Given the description of an element on the screen output the (x, y) to click on. 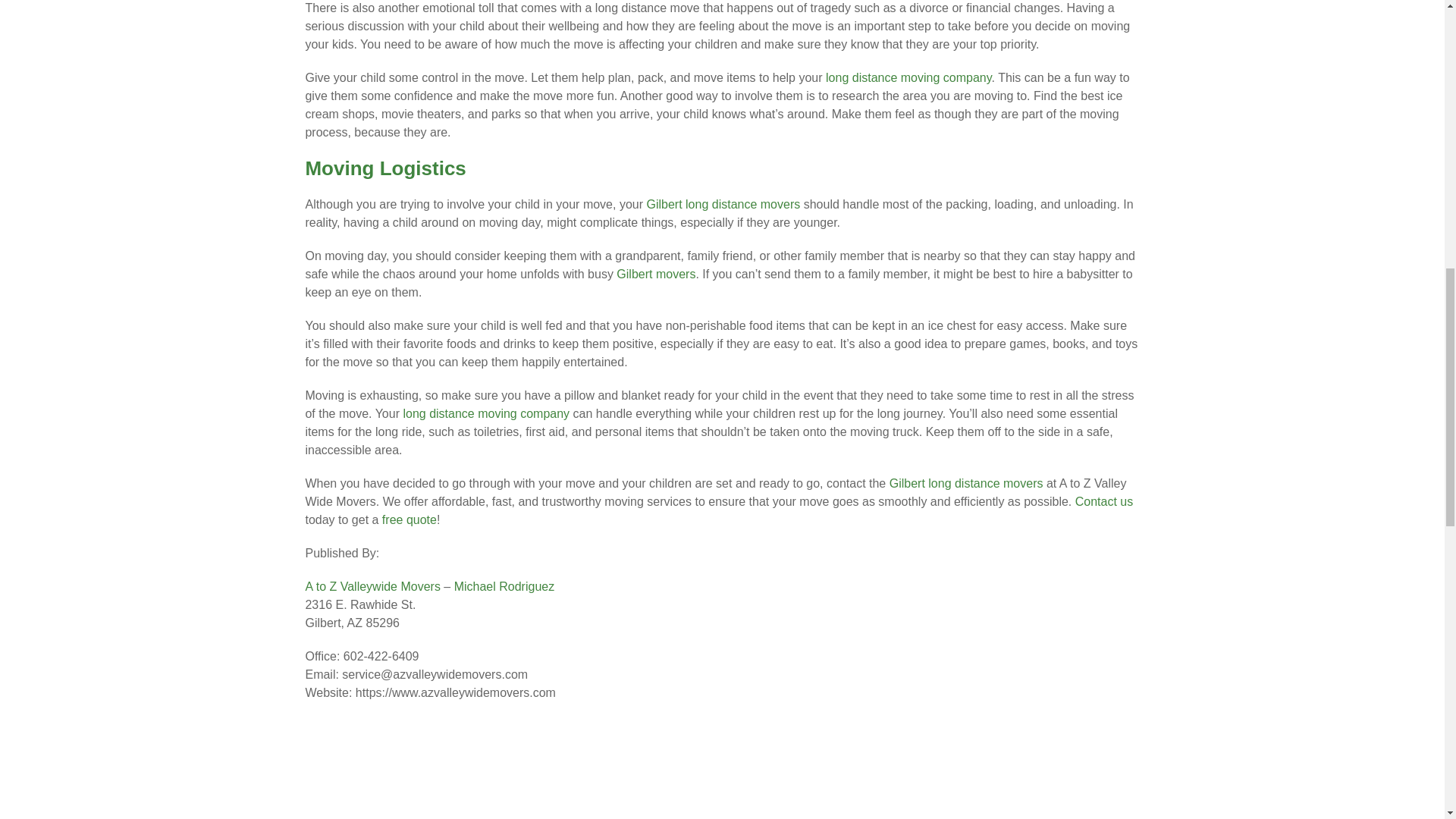
Michael Rodriguez (504, 585)
Gilbert long distance movers (966, 482)
Gilbert long distance movers (722, 204)
long distance moving company (486, 413)
free quote (408, 519)
long distance moving company (908, 77)
Contact us (1103, 501)
Gilbert movers (655, 273)
A to Z Valleywide Movers (371, 585)
